Given the description of an element on the screen output the (x, y) to click on. 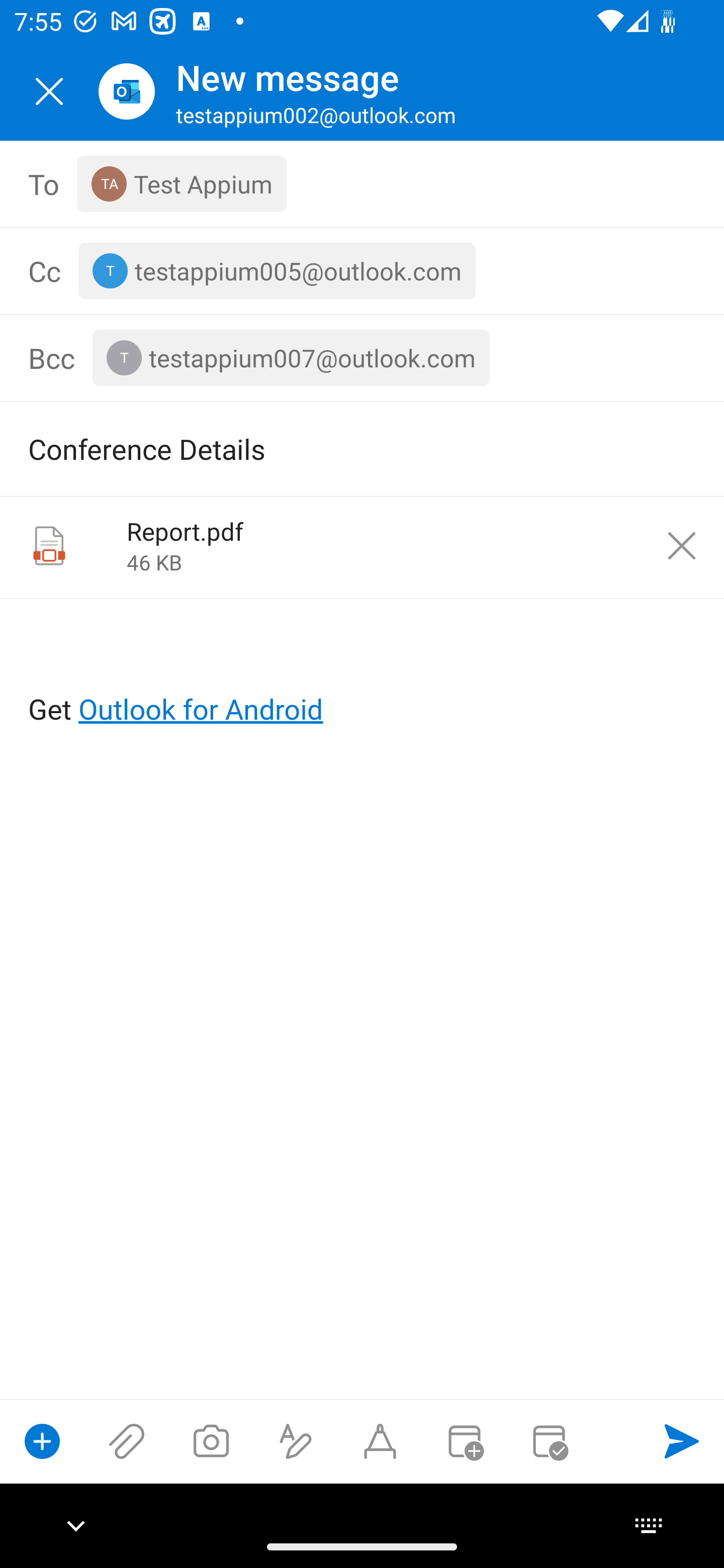
Close (49, 91)
Bcc, 1 recipient <testappium007@outlook.com> (392, 358)
Conference Details (333, 448)
Report.pdf 46 KB Remove attachment Report.pdf (362, 547)
Remove attachment Report.pdf (681, 545)


Get Outlook for Android (363, 676)
Show compose options (42, 1440)
Attach files (126, 1440)
Take a photo (210, 1440)
Show formatting options (295, 1440)
Start Ink compose (380, 1440)
Convert to event (464, 1440)
Send availability (548, 1440)
Send (681, 1440)
